Given the description of an element on the screen output the (x, y) to click on. 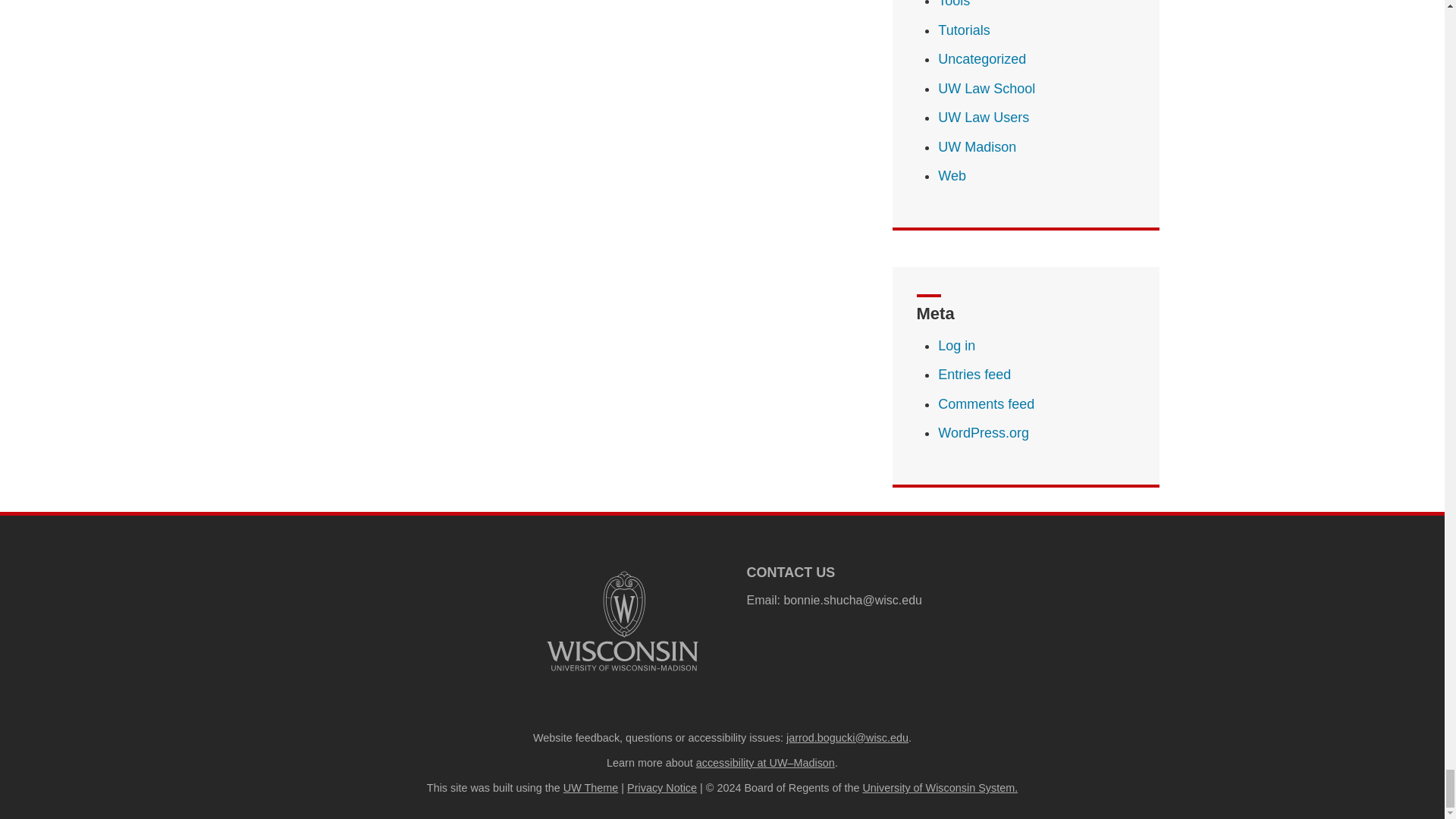
University logo that links to main university website (621, 621)
